Given the description of an element on the screen output the (x, y) to click on. 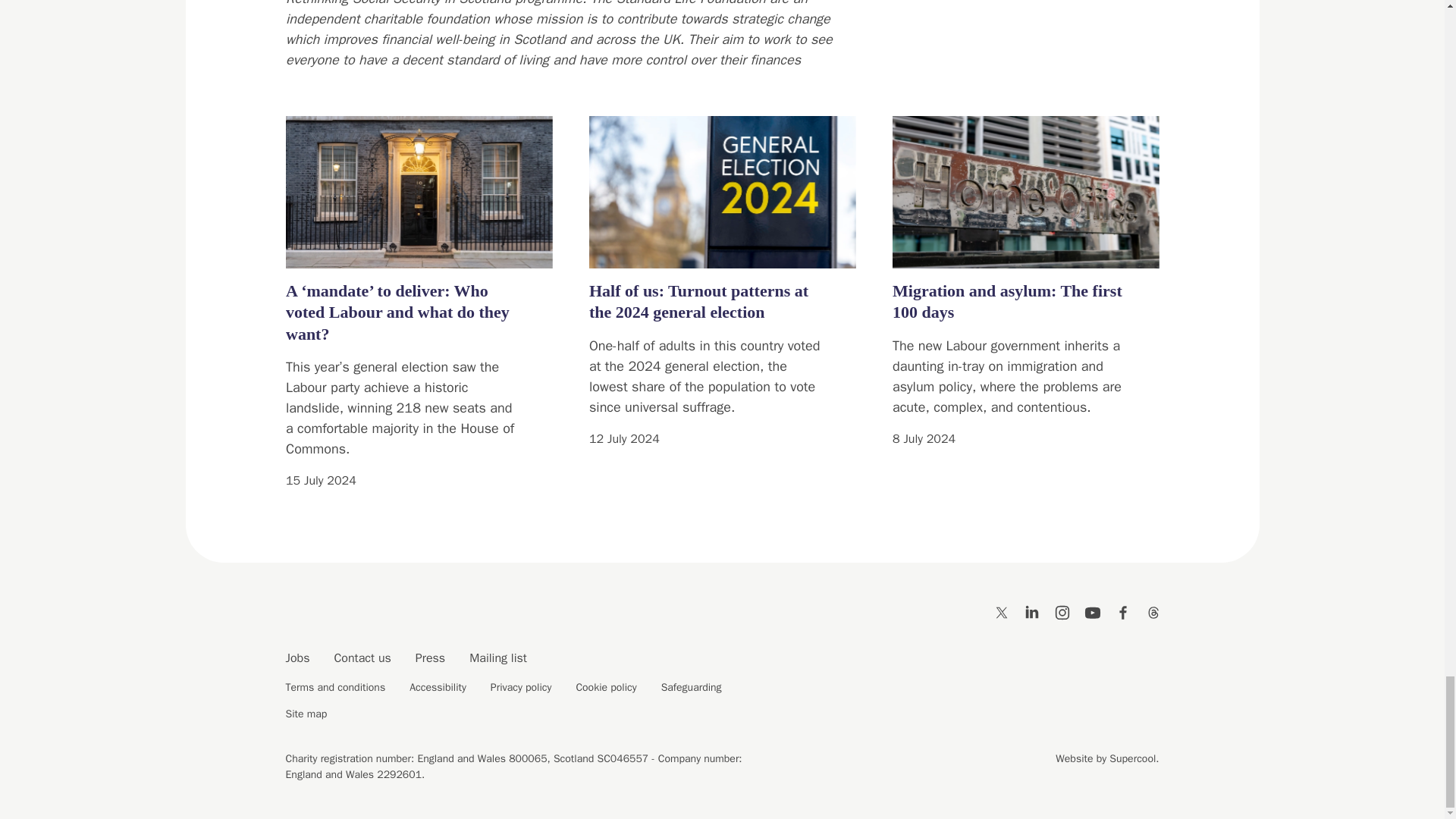
LinkedIn (1031, 611)
Threads (1152, 611)
YouTube (1091, 611)
Facebook (1121, 611)
Twitter (1000, 611)
Instagram (1061, 611)
